Given the description of an element on the screen output the (x, y) to click on. 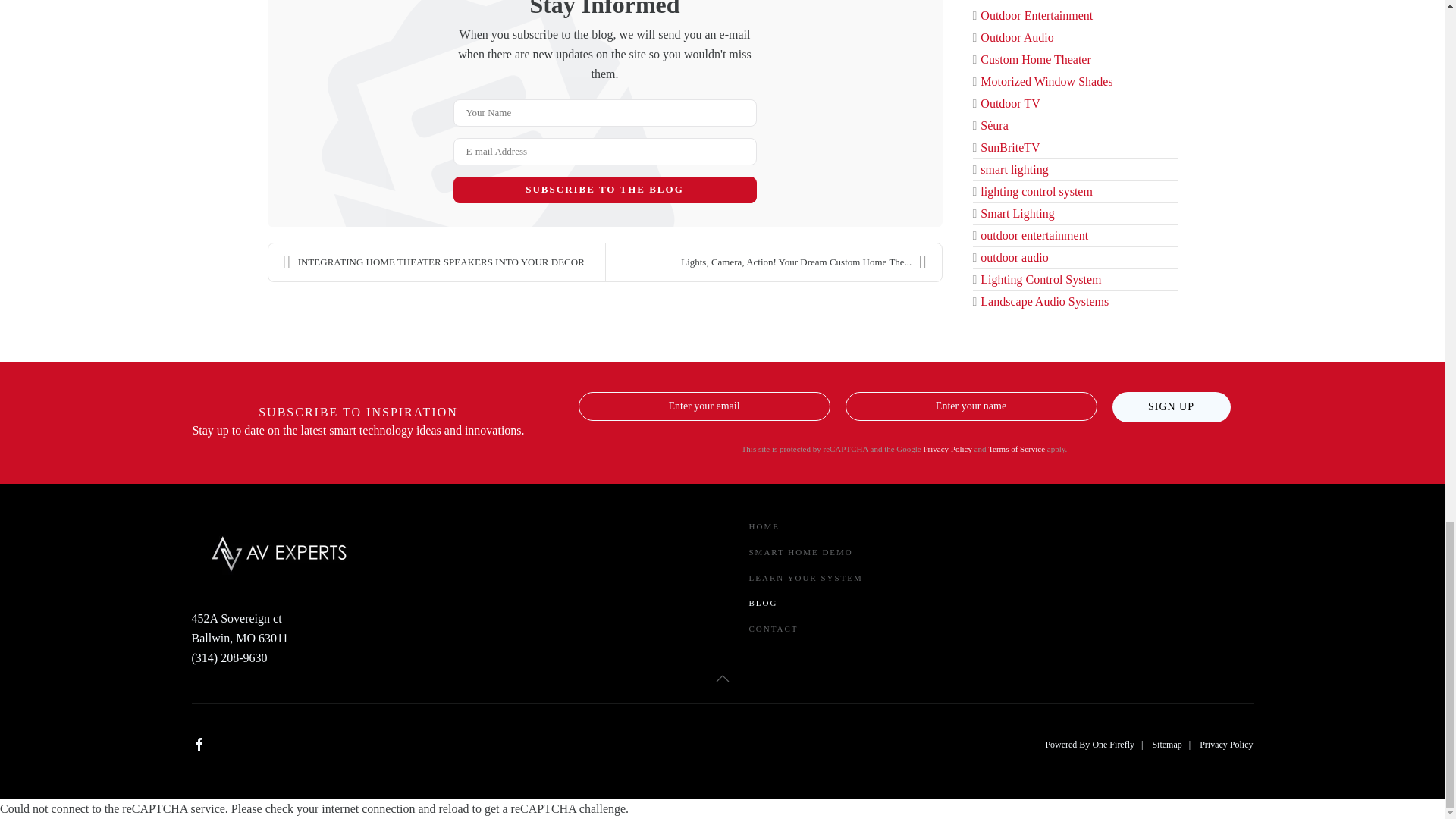
Lights, Camera, Action! Your Dream Custom Home The... (772, 262)
INTEGRATING HOME THEATER SPEAKERS INTO YOUR DECOR (436, 262)
Back to Top (721, 678)
SUBSCRIBE TO THE BLOG (604, 189)
